Given the description of an element on the screen output the (x, y) to click on. 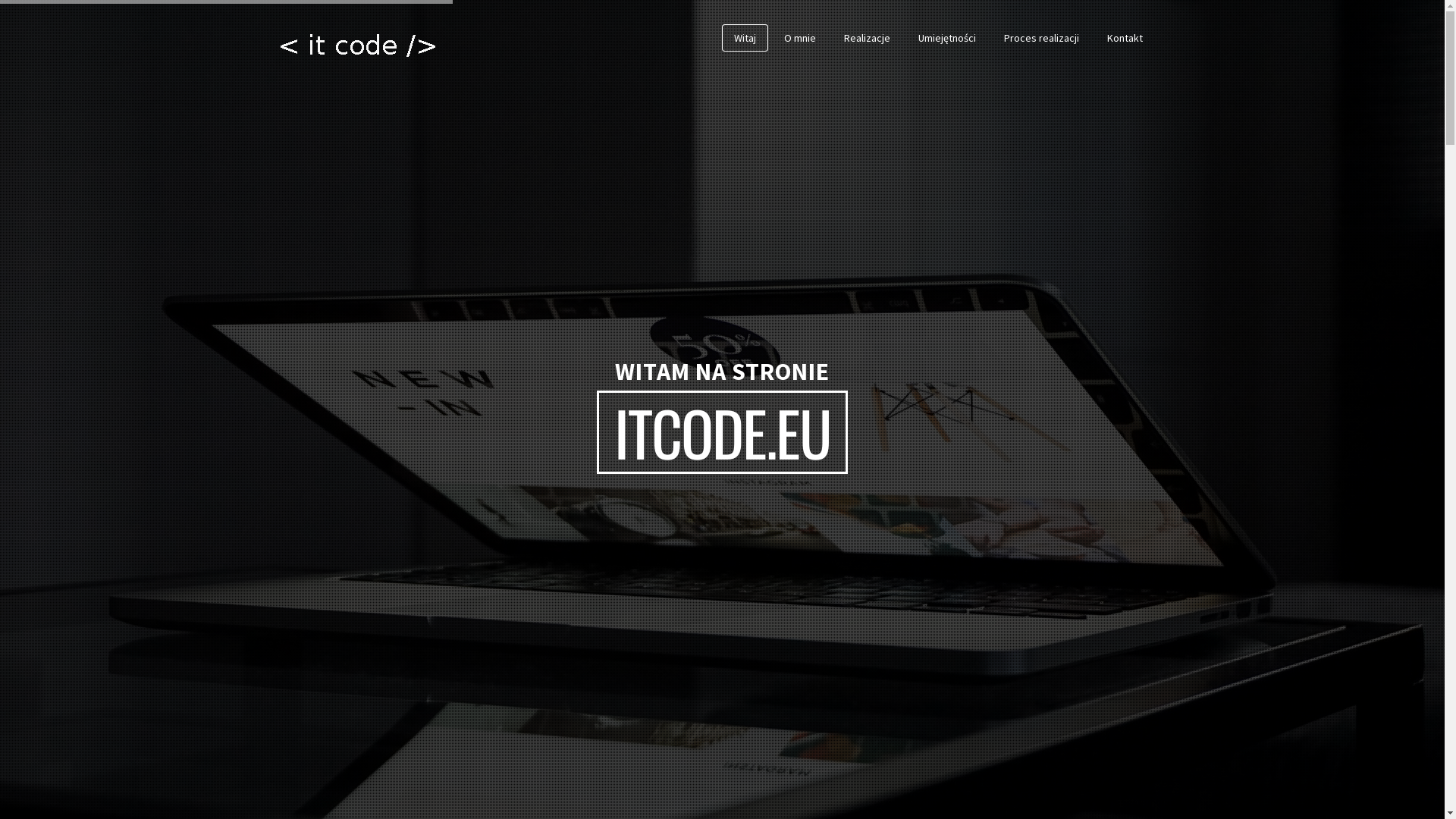
Witaj Element type: text (744, 37)
Proces realizacji Element type: text (1041, 37)
Kontakt Element type: text (1124, 37)
O mnie Element type: text (799, 37)
Realizacje Element type: text (866, 37)
